Given the description of an element on the screen output the (x, y) to click on. 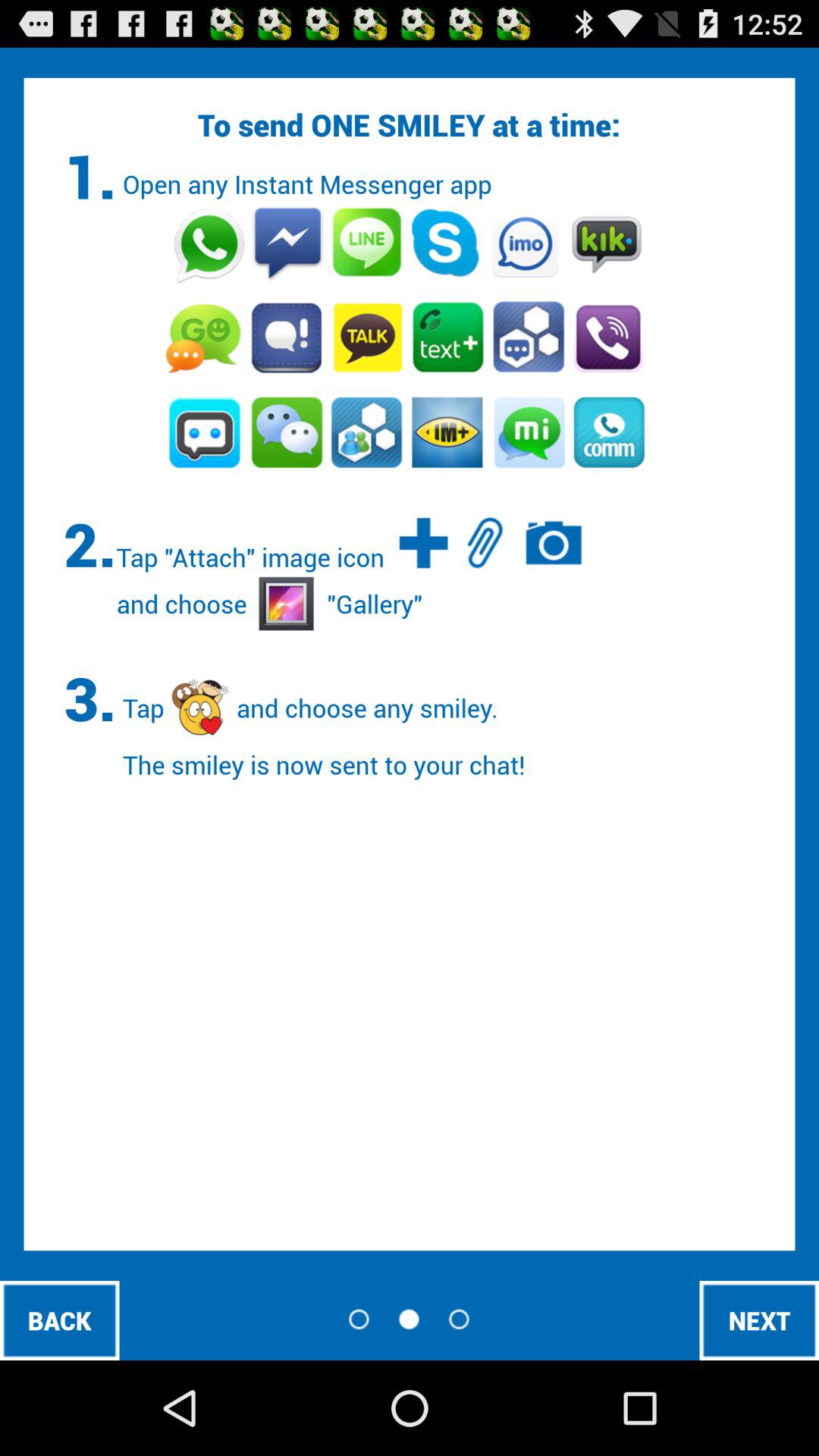
flip to back button (59, 1320)
